Given the description of an element on the screen output the (x, y) to click on. 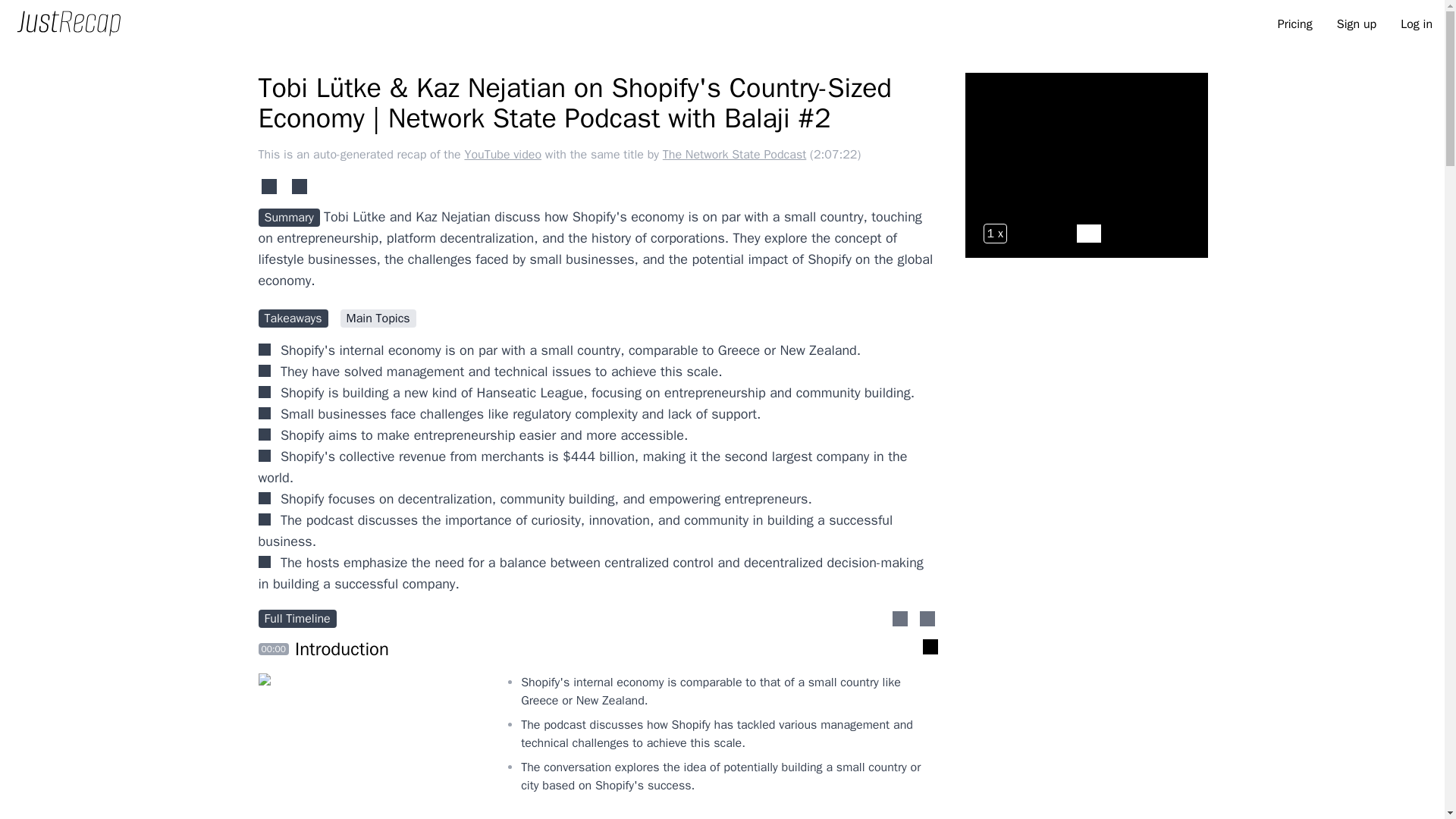
YouTube video (504, 154)
The Network State Podcast (735, 154)
More actions (926, 618)
Log in (1416, 24)
Sign up (1355, 24)
Pricing (1295, 24)
